Given the description of an element on the screen output the (x, y) to click on. 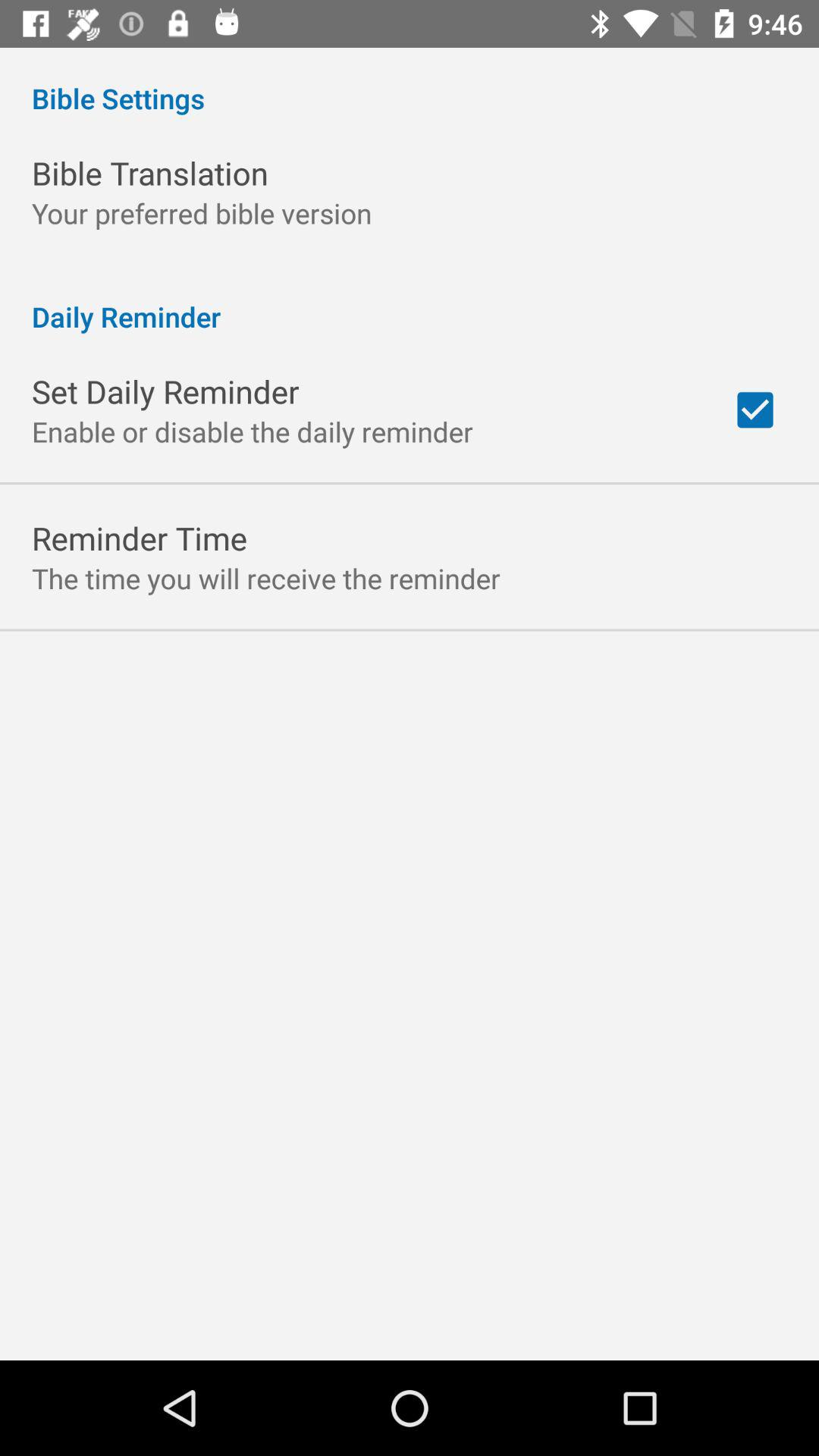
press the time you icon (265, 578)
